Given the description of an element on the screen output the (x, y) to click on. 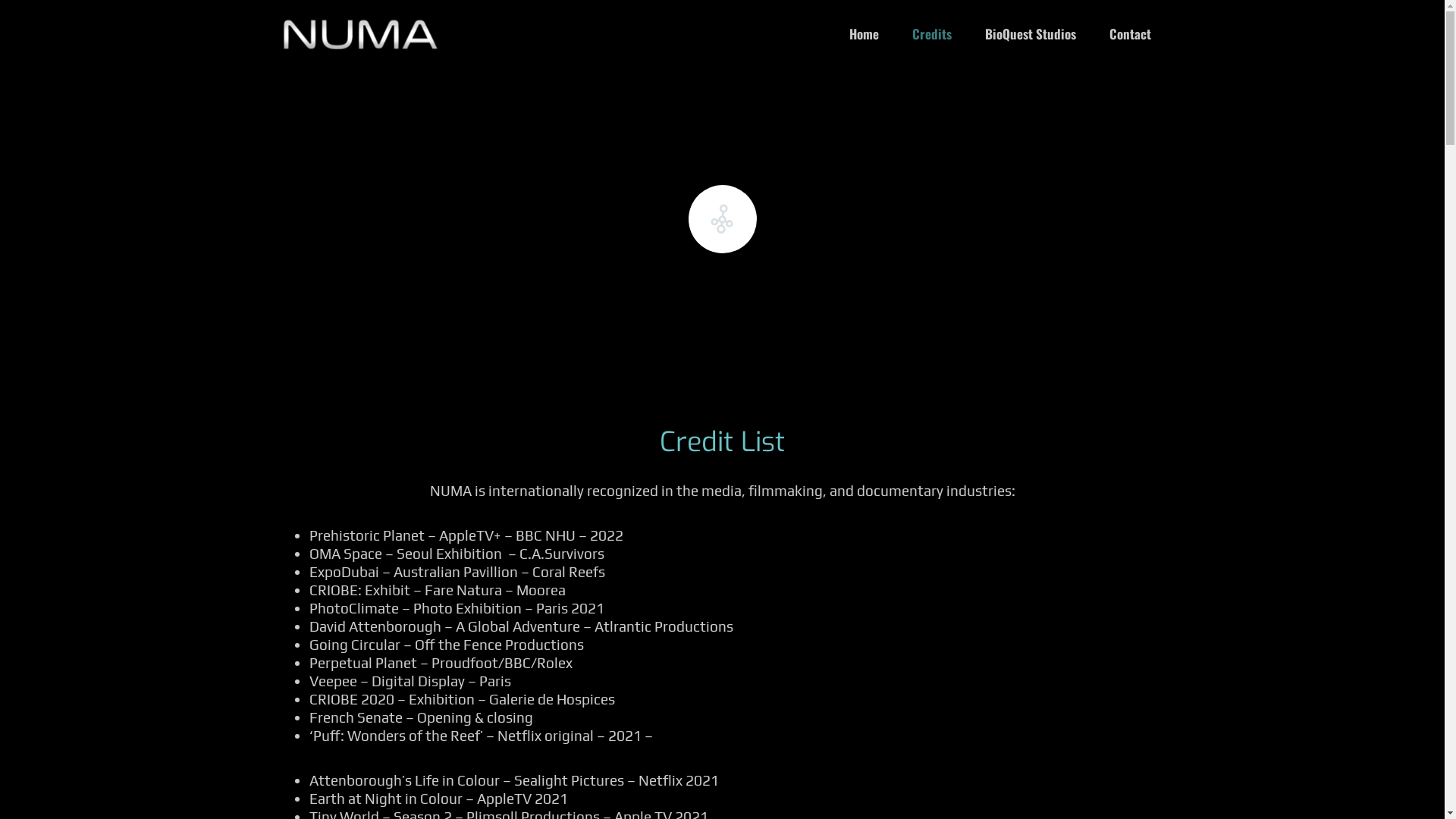
Credits Element type: text (931, 33)
Contact Element type: text (1129, 33)
Home Element type: text (864, 33)
BioQuest Studios Element type: text (1029, 33)
